Given the description of an element on the screen output the (x, y) to click on. 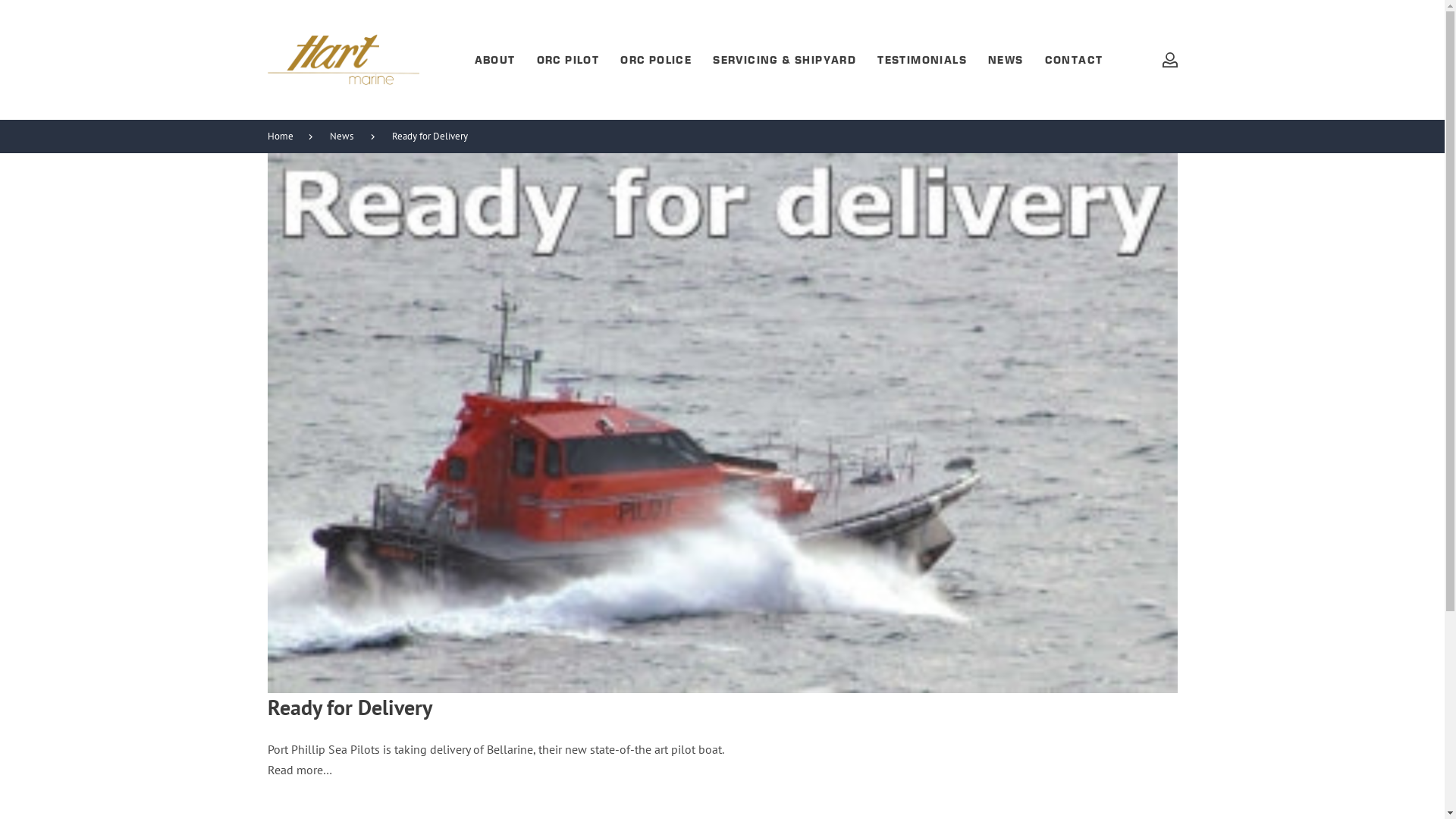
CONTACT Element type: text (1084, 59)
News Element type: text (348, 136)
NEWS Element type: text (1016, 59)
Ready for Delivery Element type: hover (721, 423)
ABOUT Element type: text (505, 59)
TESTIMONIALS Element type: text (932, 59)
ORC POLICE Element type: text (666, 59)
SERVICING & SHIPYARD Element type: text (794, 59)
Home Element type: text (286, 136)
ORC PILOT Element type: text (578, 59)
Ready for Delivery Element type: text (436, 136)
